Given the description of an element on the screen output the (x, y) to click on. 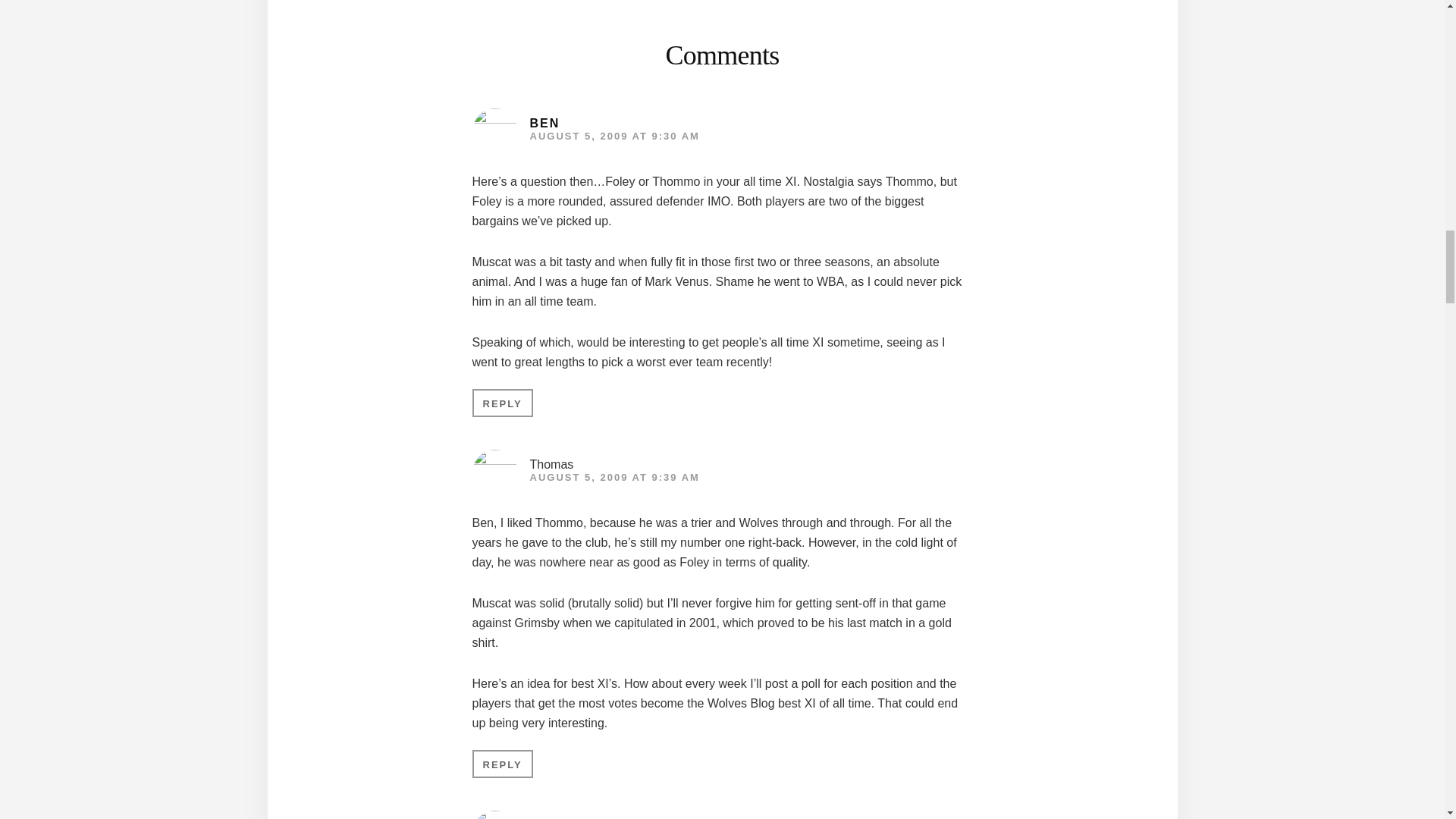
REPLY (501, 764)
AUGUST 5, 2009 AT 9:30 AM (613, 135)
BEN (544, 123)
REPLY (501, 402)
AUGUST 5, 2009 AT 9:39 AM (613, 477)
